Given the description of an element on the screen output the (x, y) to click on. 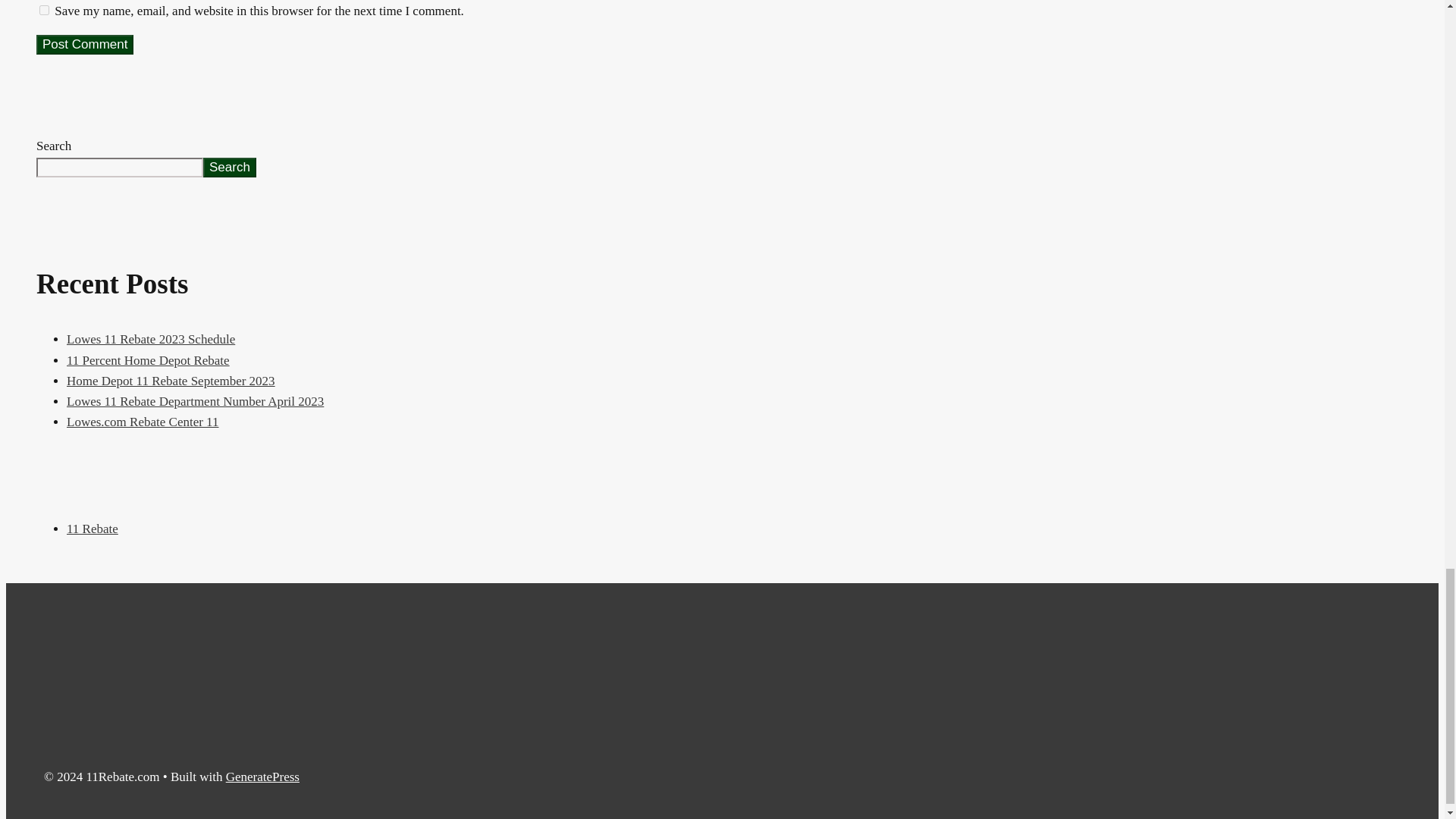
Lowes 11 Rebate 2023 Schedule (150, 339)
Post Comment (84, 44)
yes (44, 9)
Home Depot 11 Rebate September 2023 (170, 380)
11 Percent Home Depot Rebate (148, 359)
Post Comment (84, 44)
11 Rebate (91, 528)
GeneratePress (262, 776)
Search (229, 167)
Lowes 11 Rebate Department Number April 2023 (194, 400)
Lowes.com Rebate Center 11 (142, 421)
